Given the description of an element on the screen output the (x, y) to click on. 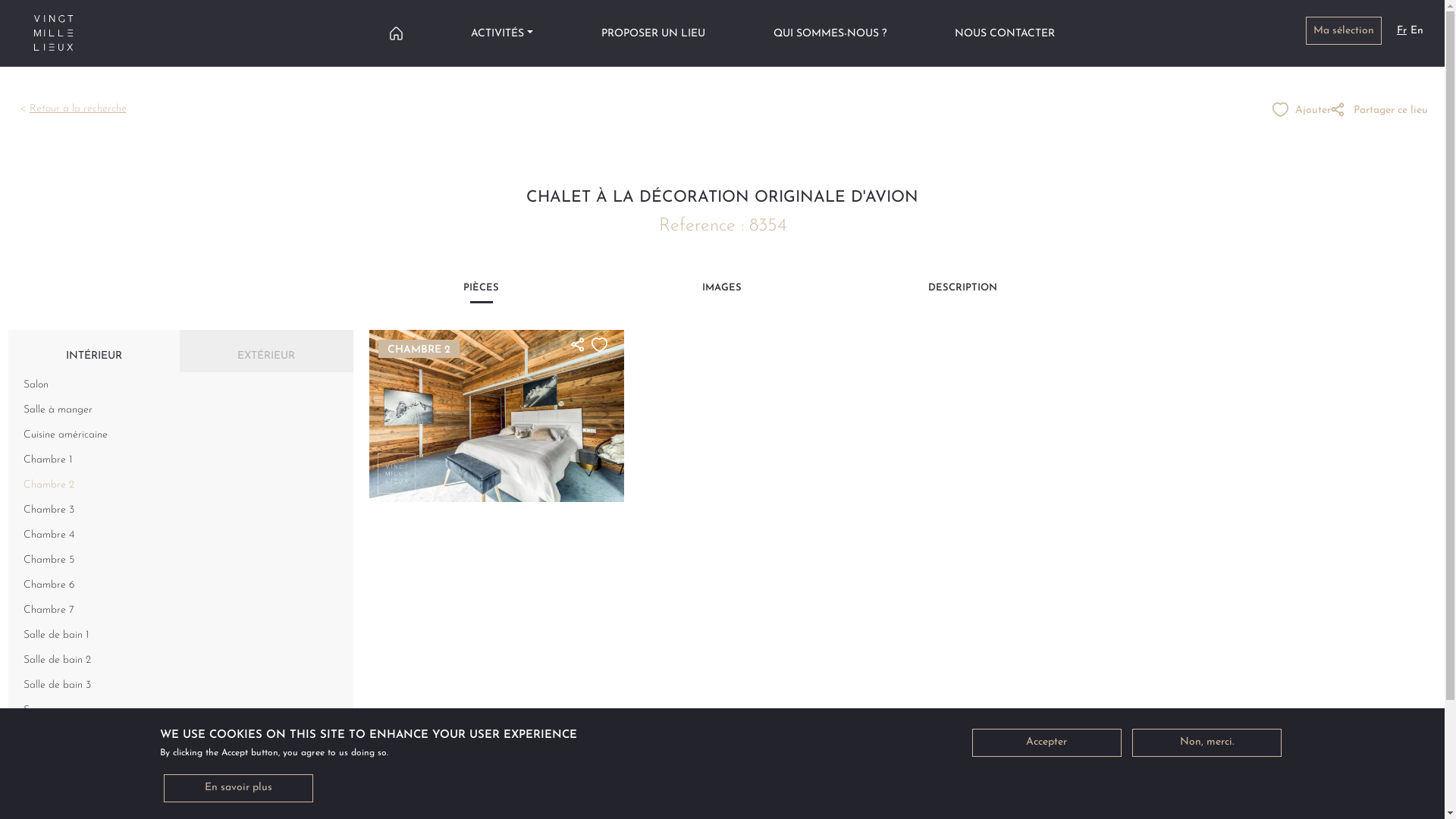
Salon Element type: text (179, 384)
Chambre 5 Element type: text (179, 559)
ACCUEIL Element type: text (395, 32)
DESCRIPTION Element type: text (962, 291)
Chambre 6 Element type: text (179, 584)
Fr Element type: text (1401, 30)
Sauna Element type: text (179, 709)
Chambre 1 Element type: text (179, 459)
Ajouter Element type: text (1301, 110)
Partager ce lieu Element type: text (1378, 110)
Chambre 3 Element type: text (179, 509)
Chambre 7 Element type: text (179, 609)
IMAGES Element type: text (721, 291)
Image
CHAMBRE 2 Element type: text (496, 415)
En savoir plus Element type: text (238, 788)
PROPOSER UN LIEU Element type: text (653, 32)
QUI SOMMES-NOUS ? Element type: text (829, 32)
Salle de bain 2 Element type: text (179, 659)
BESOIN D'AIDE ? Element type: text (642, 778)
NOUS CONTACTER Element type: text (1004, 32)
Chambre 2 Element type: text (179, 484)
Salle de bain 1 Element type: text (179, 634)
En Element type: text (1416, 30)
Accepter Element type: text (1046, 742)
Salle de bain 3 Element type: text (179, 684)
Chambre 4 Element type: text (179, 534)
PROPOSER UN LIEU Element type: text (802, 778)
Non, merci. Element type: text (1205, 742)
